Given the description of an element on the screen output the (x, y) to click on. 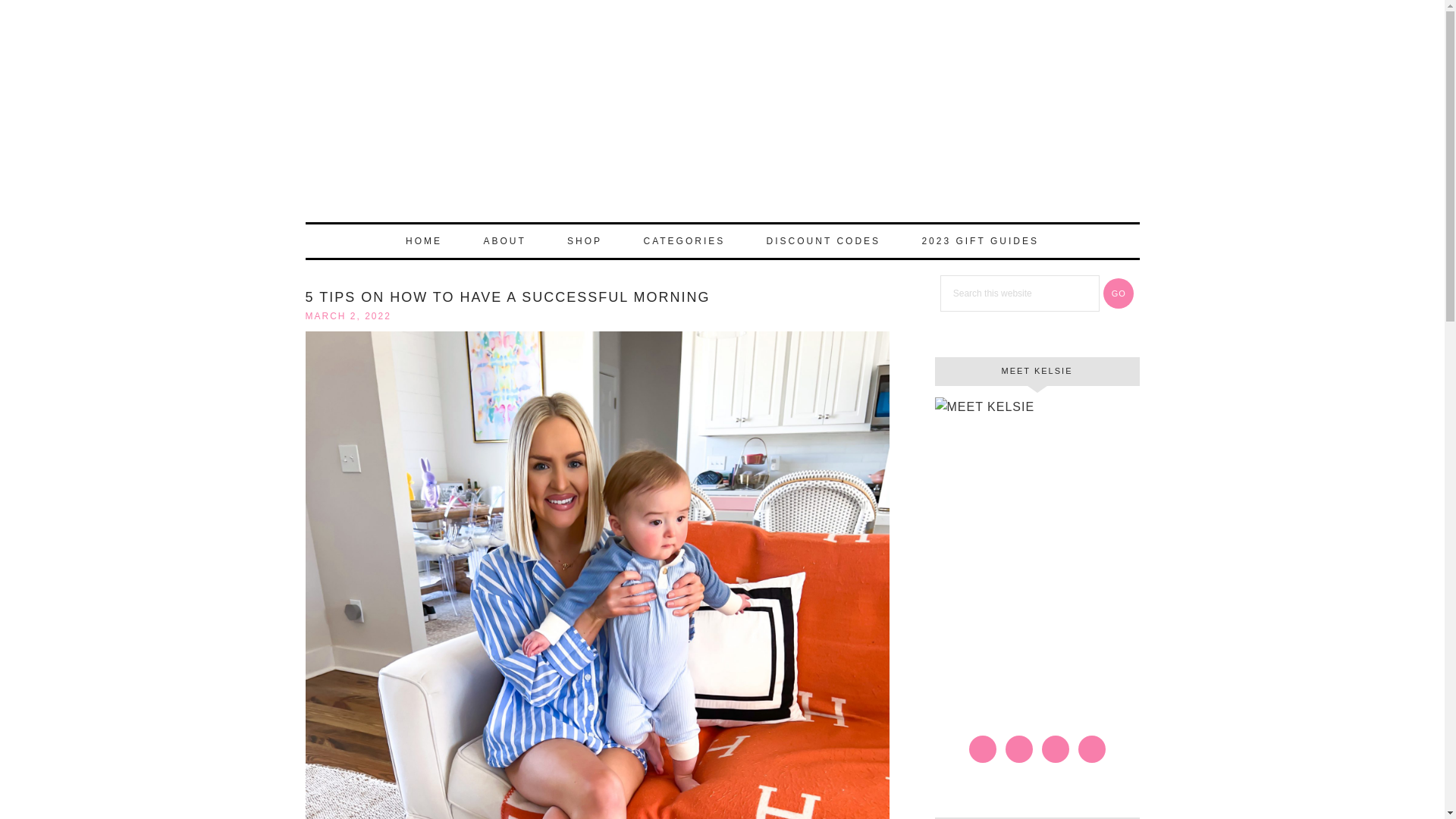
Sassy Southern Blonde (721, 128)
SHOP (584, 240)
DISCOUNT CODES (823, 240)
GO (1118, 293)
GO (1118, 293)
GO (1118, 293)
ABOUT (503, 240)
CATEGORIES (683, 240)
5 TIPS ON HOW TO HAVE A SUCCESSFUL MORNING (507, 296)
2023 GIFT GUIDES (978, 240)
